Given the description of an element on the screen output the (x, y) to click on. 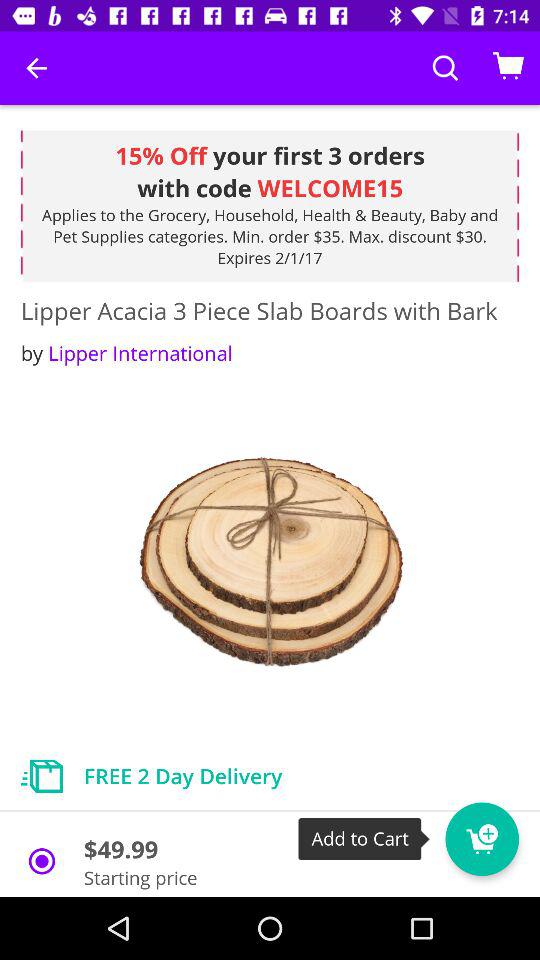
select the by lipper international (126, 352)
